Given the description of an element on the screen output the (x, y) to click on. 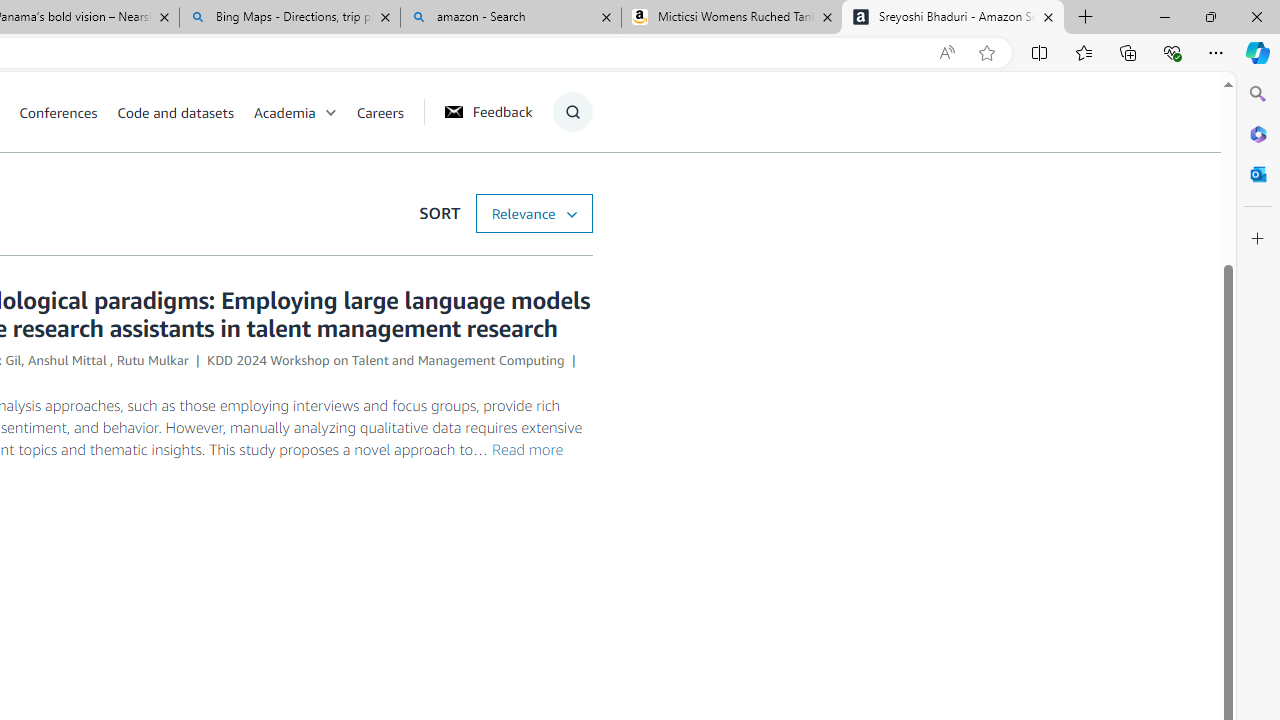
Class: icon-magnify (571, 111)
Submit Search (565, 191)
Academia (305, 111)
Conferences (68, 111)
Open Sub Navigation (330, 111)
KDD 2024 Workshop on Talent and Management Computing (385, 360)
amazon - Search (510, 17)
Conferences (58, 111)
